Given the description of an element on the screen output the (x, y) to click on. 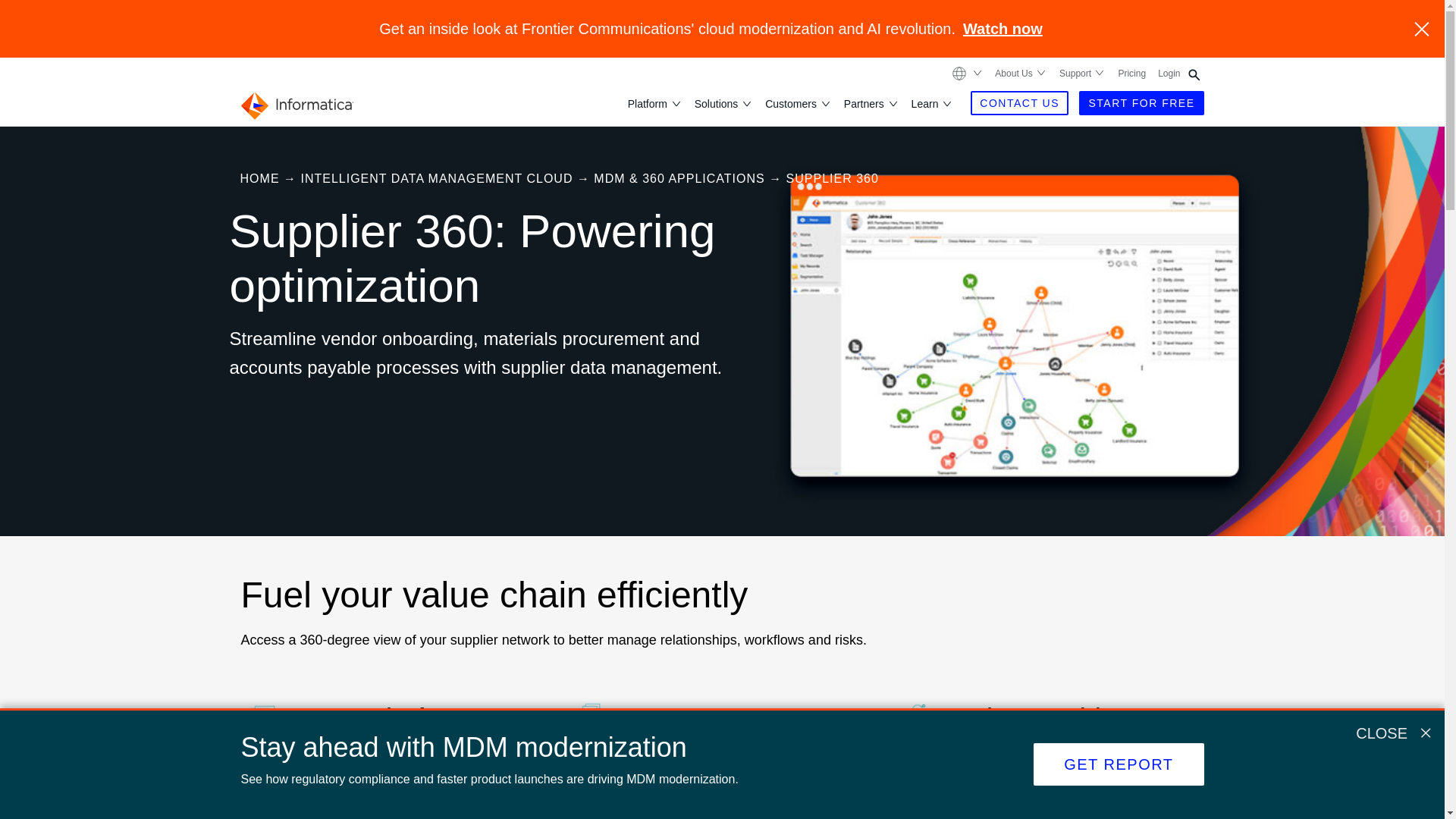
Watch now (1002, 28)
Platform (648, 103)
Solutions (717, 103)
